Given the description of an element on the screen output the (x, y) to click on. 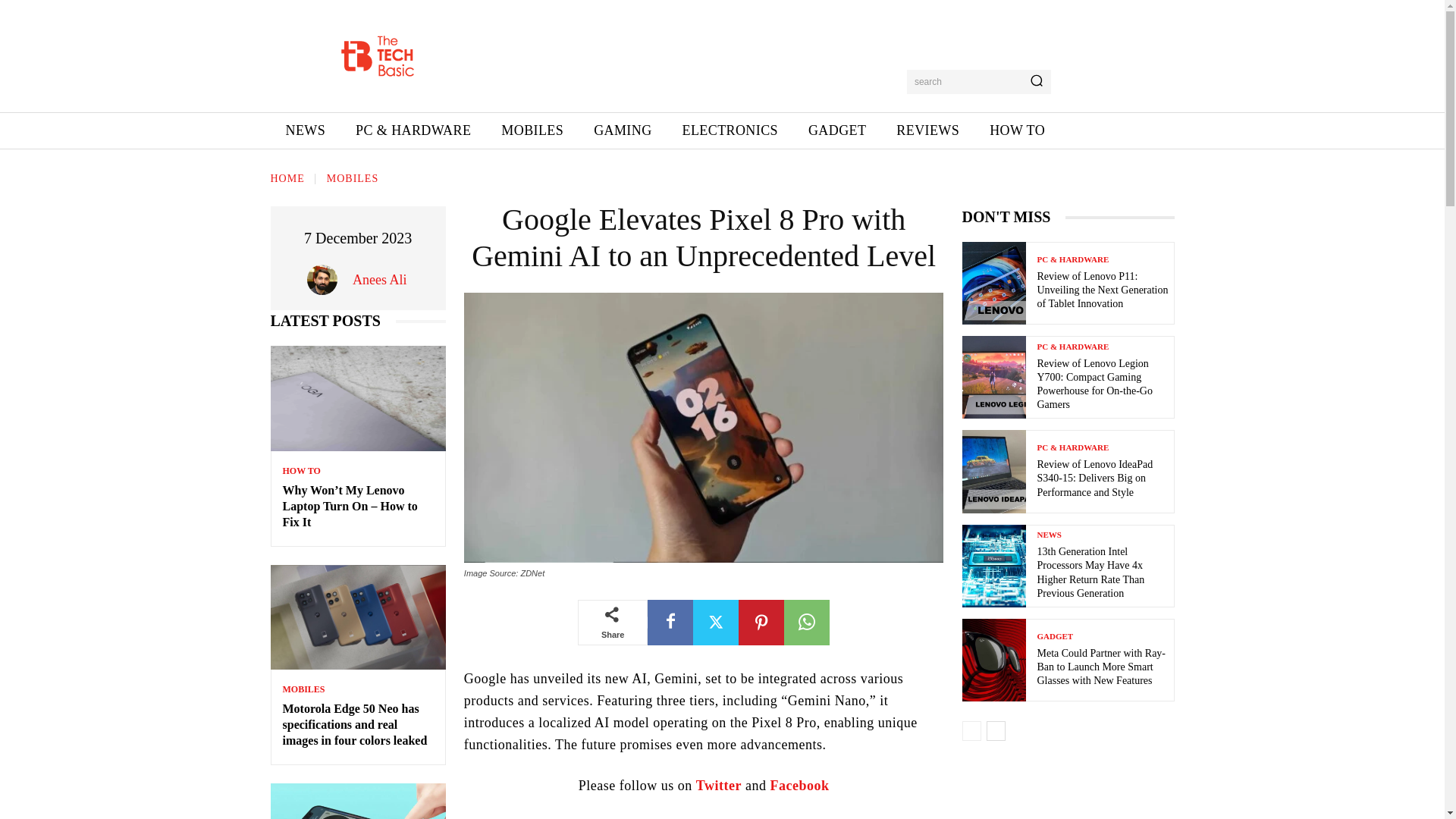
HOW TO (301, 470)
MOBILES (352, 178)
MOBILES (303, 688)
ELECTRONICS (729, 130)
HOME (286, 178)
Anees Ali (379, 279)
Anees Ali (326, 279)
HOW TO (1016, 130)
MOBILES (532, 130)
GADGET (836, 130)
